Given the description of an element on the screen output the (x, y) to click on. 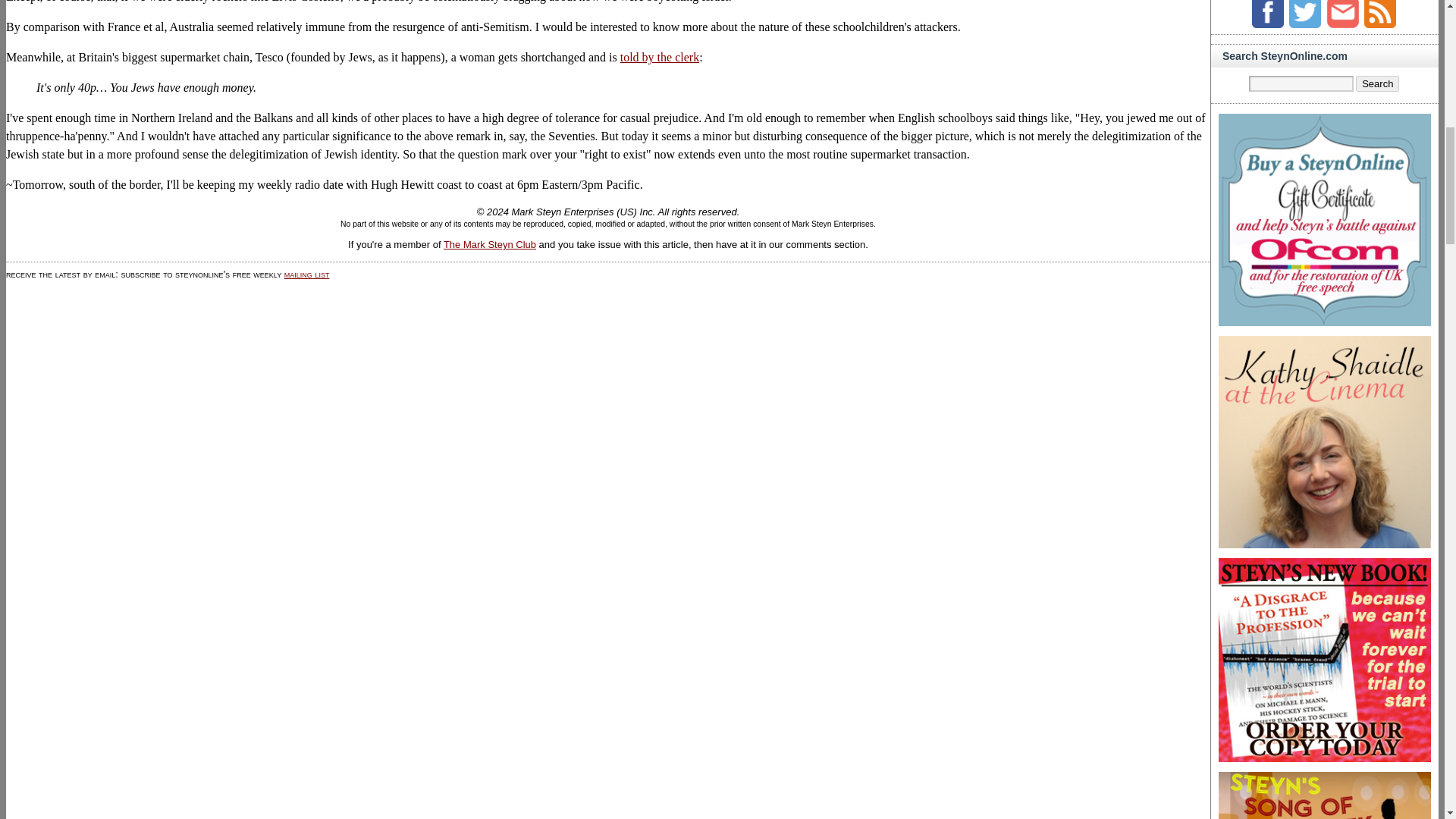
Twitter (1304, 13)
Search (1377, 83)
Join Mailing List (1342, 13)
Facebook (1268, 13)
RSS Feed (1380, 13)
